Given the description of an element on the screen output the (x, y) to click on. 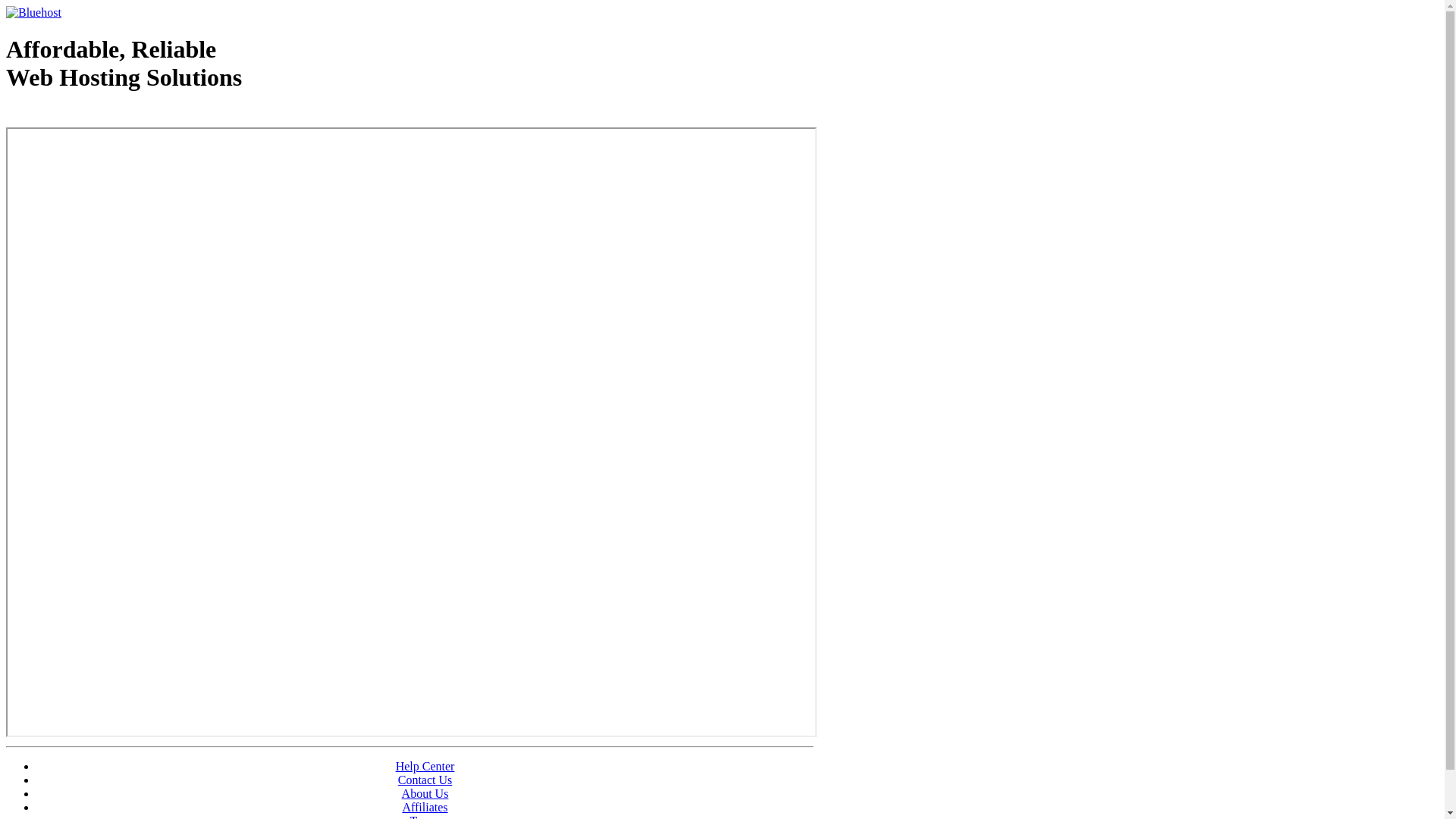
Affiliates Element type: text (424, 806)
Help Center Element type: text (425, 765)
Contact Us Element type: text (425, 779)
Web Hosting - courtesy of www.bluehost.com Element type: text (94, 115)
About Us Element type: text (424, 793)
